Given the description of an element on the screen output the (x, y) to click on. 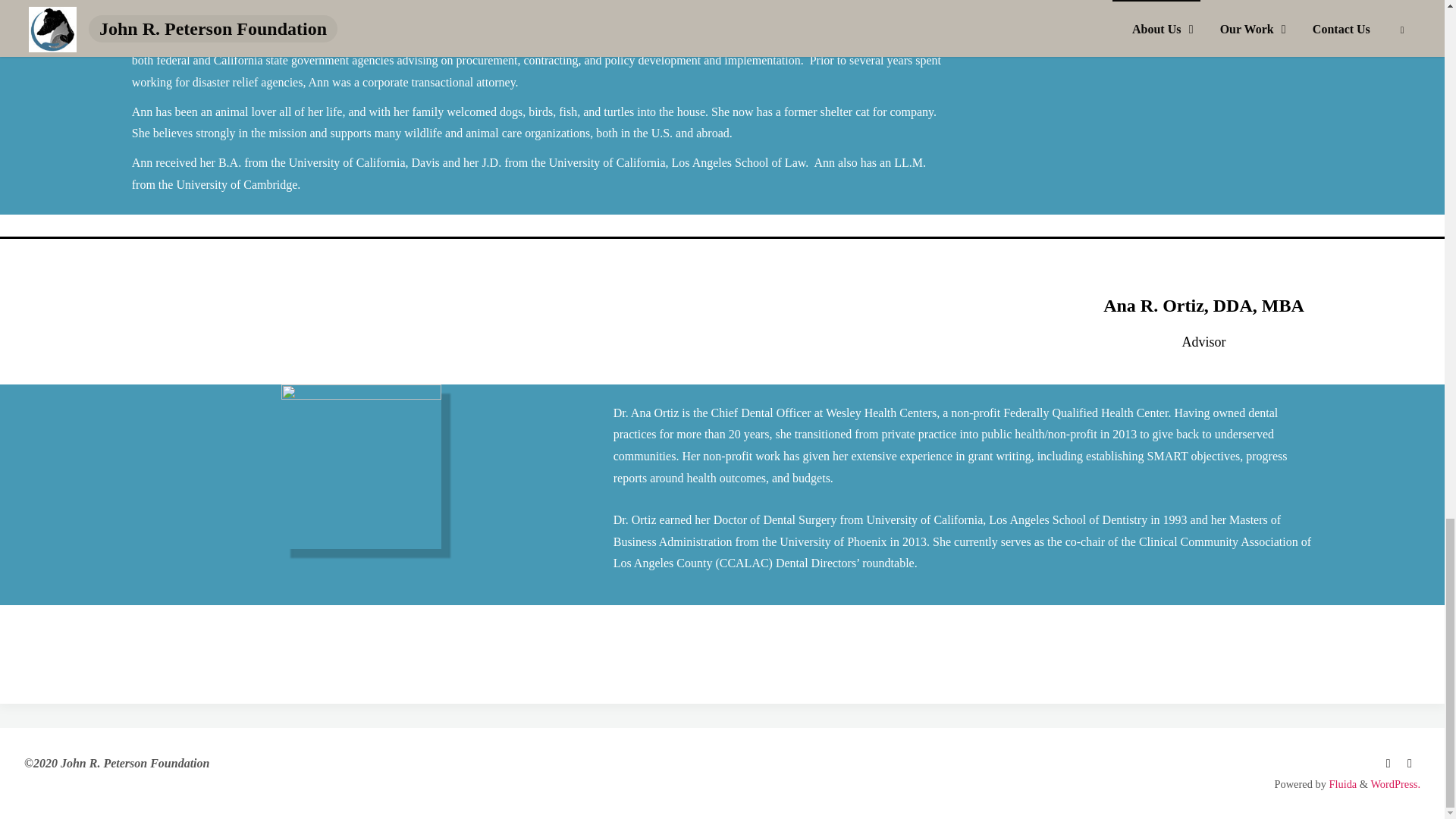
Fluida WordPress Theme by Cryout Creations (1341, 784)
Semantic Personal Publishing Platform (1395, 784)
Fluida (1341, 784)
WordPress. (1395, 784)
